Given the description of an element on the screen output the (x, y) to click on. 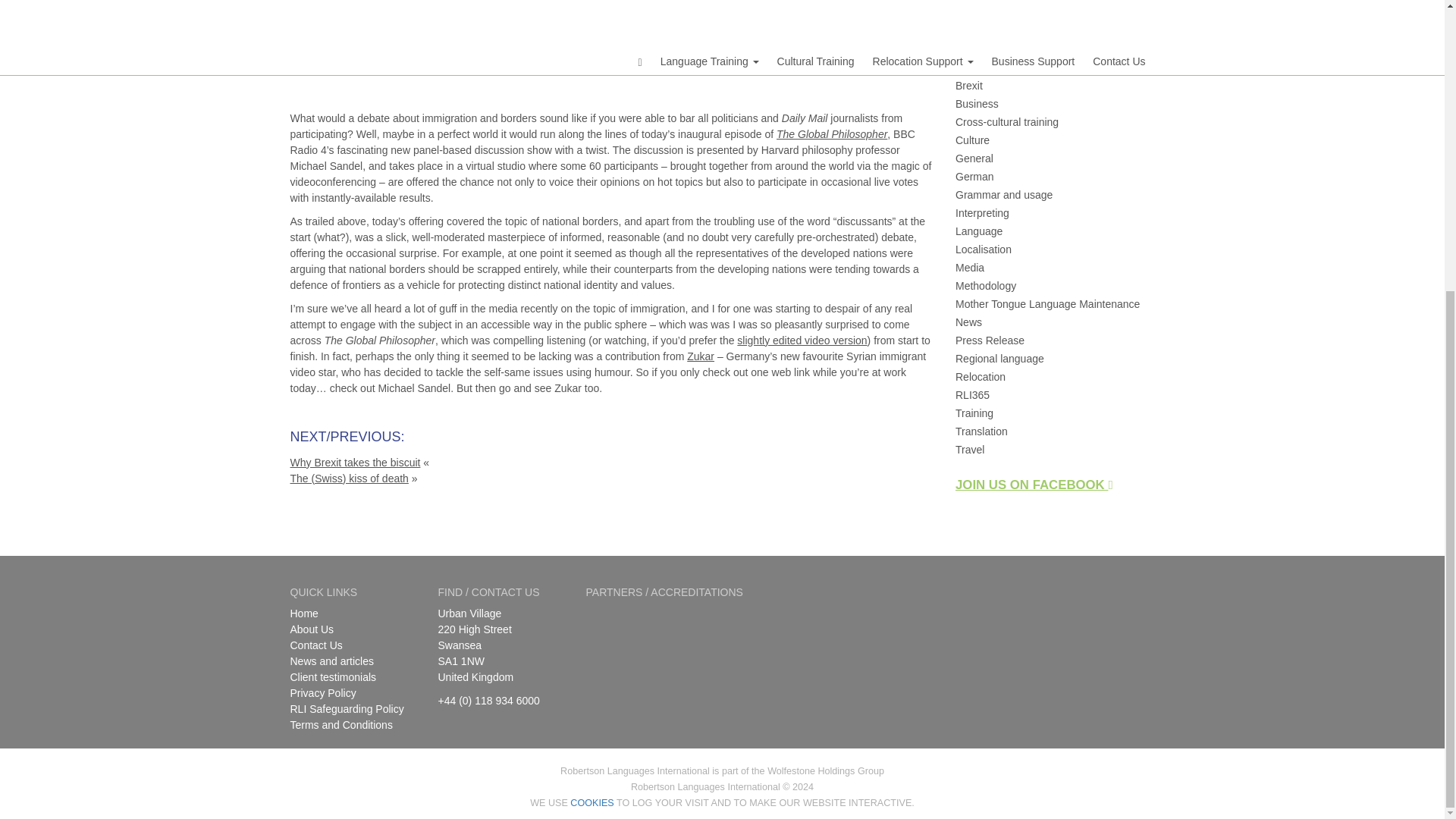
slightly edited video version (801, 340)
Zukar (700, 356)
The Global Philosopher (831, 133)
Why Brexit takes the biscuit (354, 462)
